Given the description of an element on the screen output the (x, y) to click on. 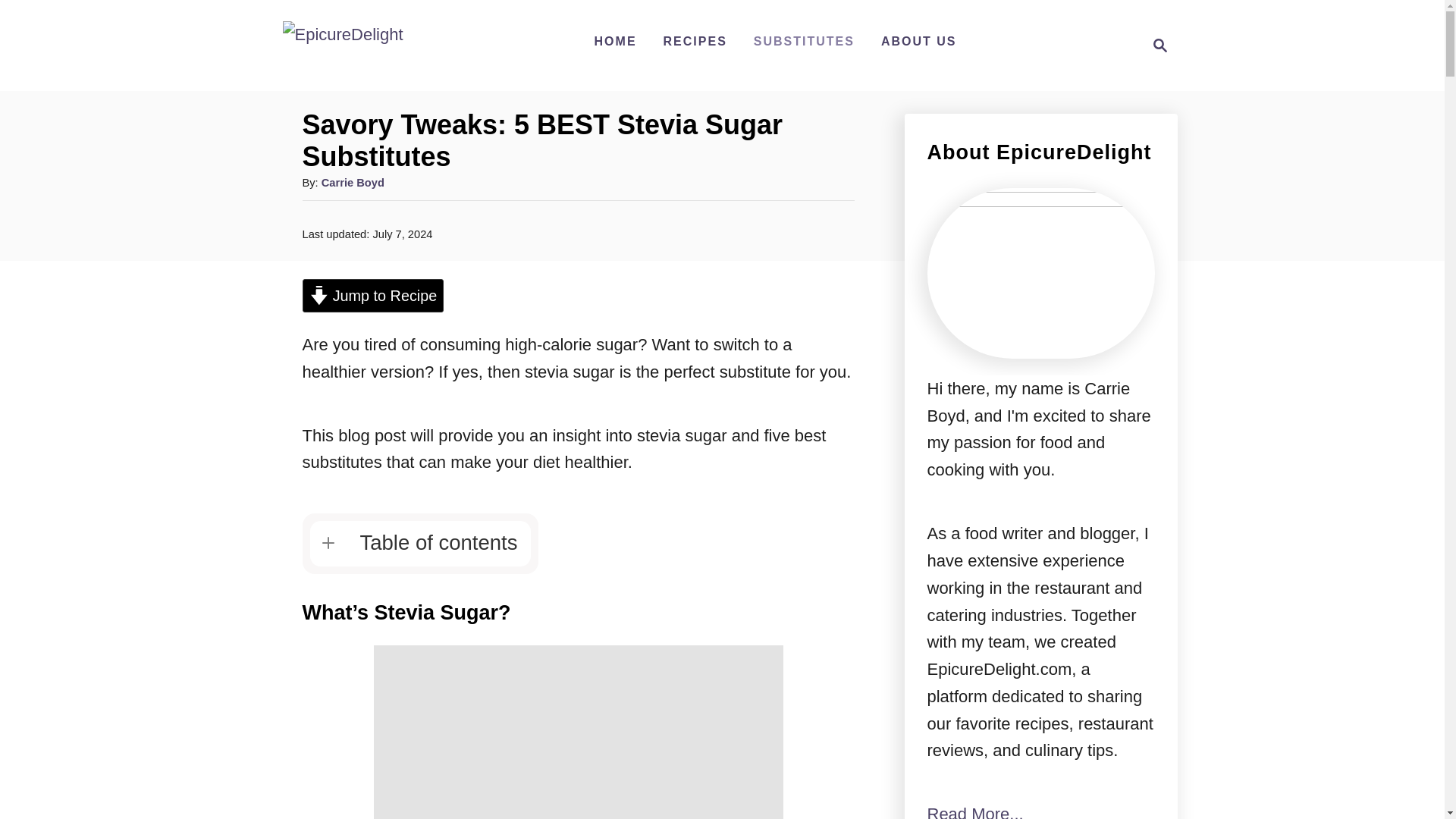
ABOUT US (918, 41)
EpicureDelight (342, 45)
Jump to Recipe (372, 295)
Carrie Boyd (352, 182)
Magnifying Glass (1160, 45)
HOME (615, 41)
SUBSTITUTES (803, 41)
RECIPES (695, 41)
